Given the description of an element on the screen output the (x, y) to click on. 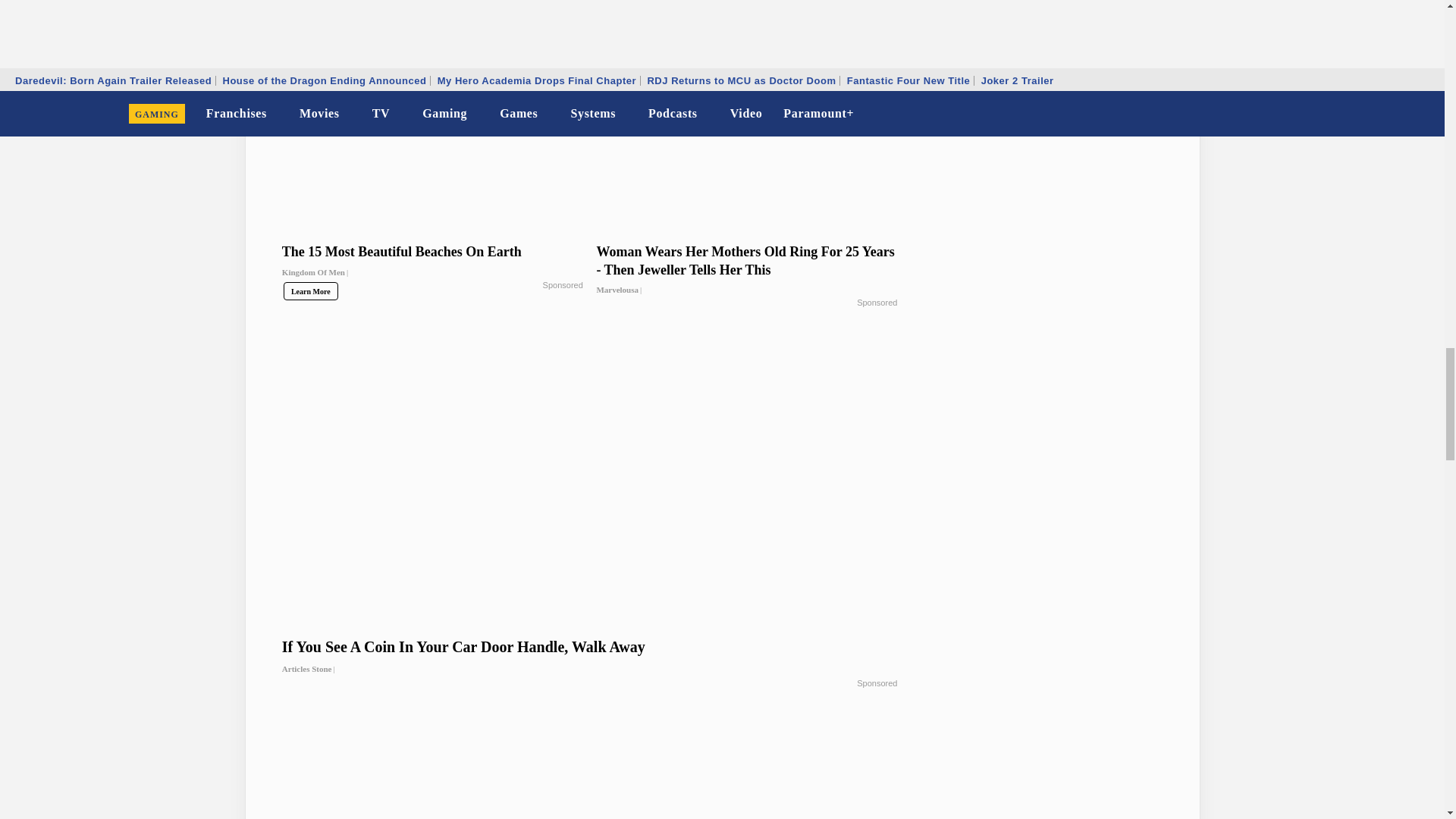
If You See A Coin In Your Car Door Handle, Walk Away (590, 658)
The 15 Most Beautiful Beaches On Earth (432, 265)
The One Baking Soda Trick Everyone Should Know About (590, 22)
